Given the description of an element on the screen output the (x, y) to click on. 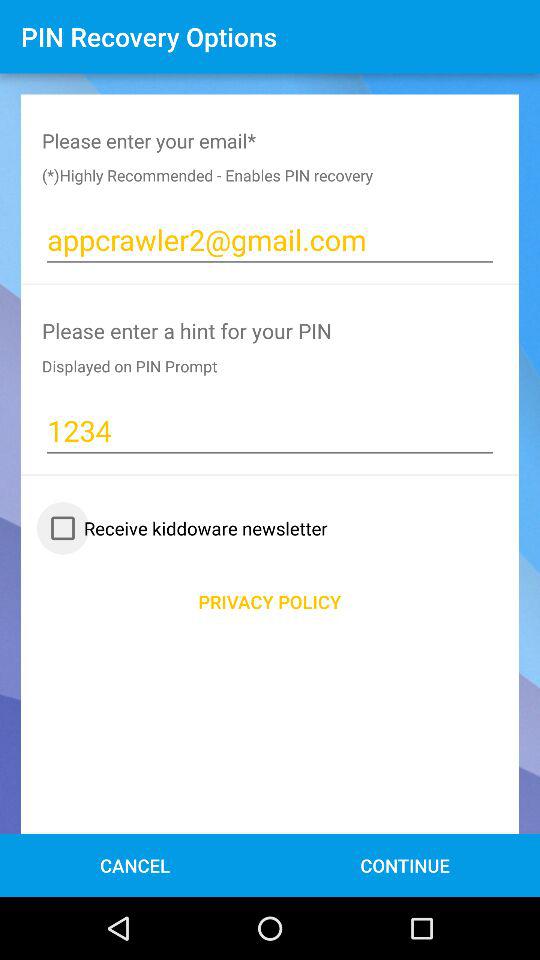
tap the continue at the bottom right corner (404, 864)
